Given the description of an element on the screen output the (x, y) to click on. 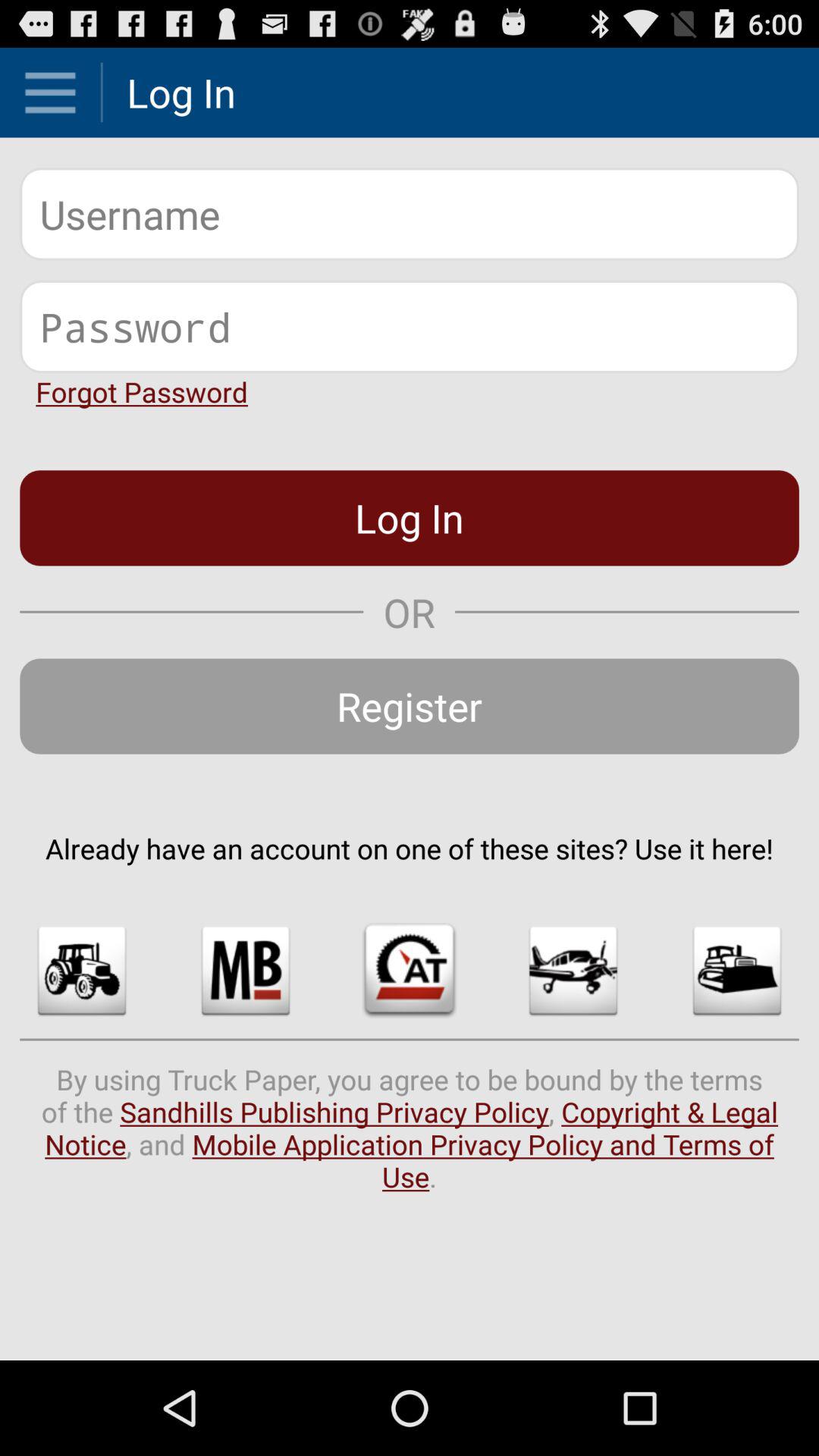
enter password characters (409, 326)
